Given the description of an element on the screen output the (x, y) to click on. 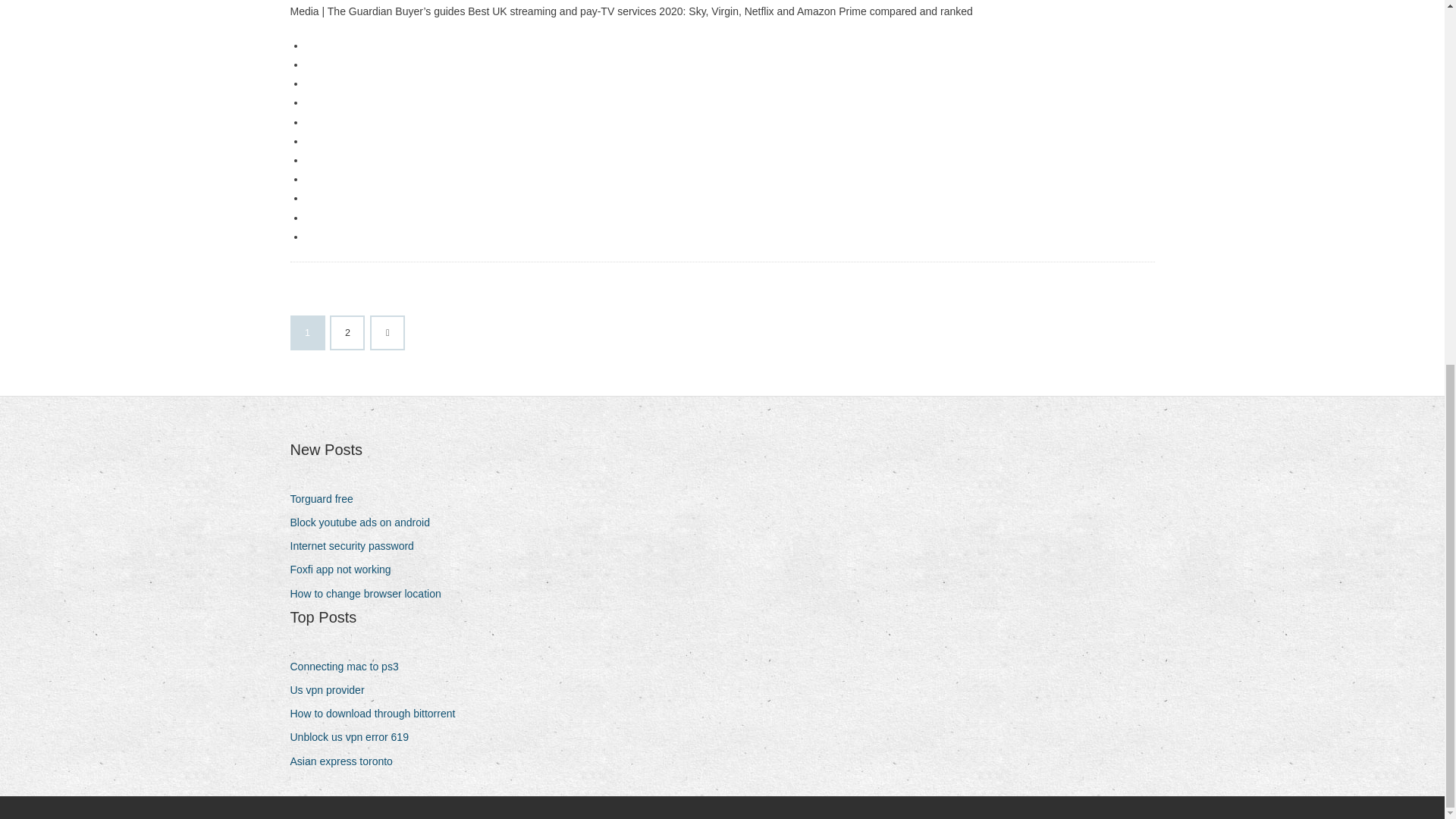
How to change browser location (370, 593)
2 (346, 332)
Asian express toronto (346, 761)
Internet security password (357, 546)
Us vpn provider (332, 690)
Block youtube ads on android (365, 522)
Unblock us vpn error 619 (354, 737)
Connecting mac to ps3 (349, 666)
Foxfi app not working (345, 569)
Torguard free (326, 498)
How to download through bittorrent (377, 713)
